Given the description of an element on the screen output the (x, y) to click on. 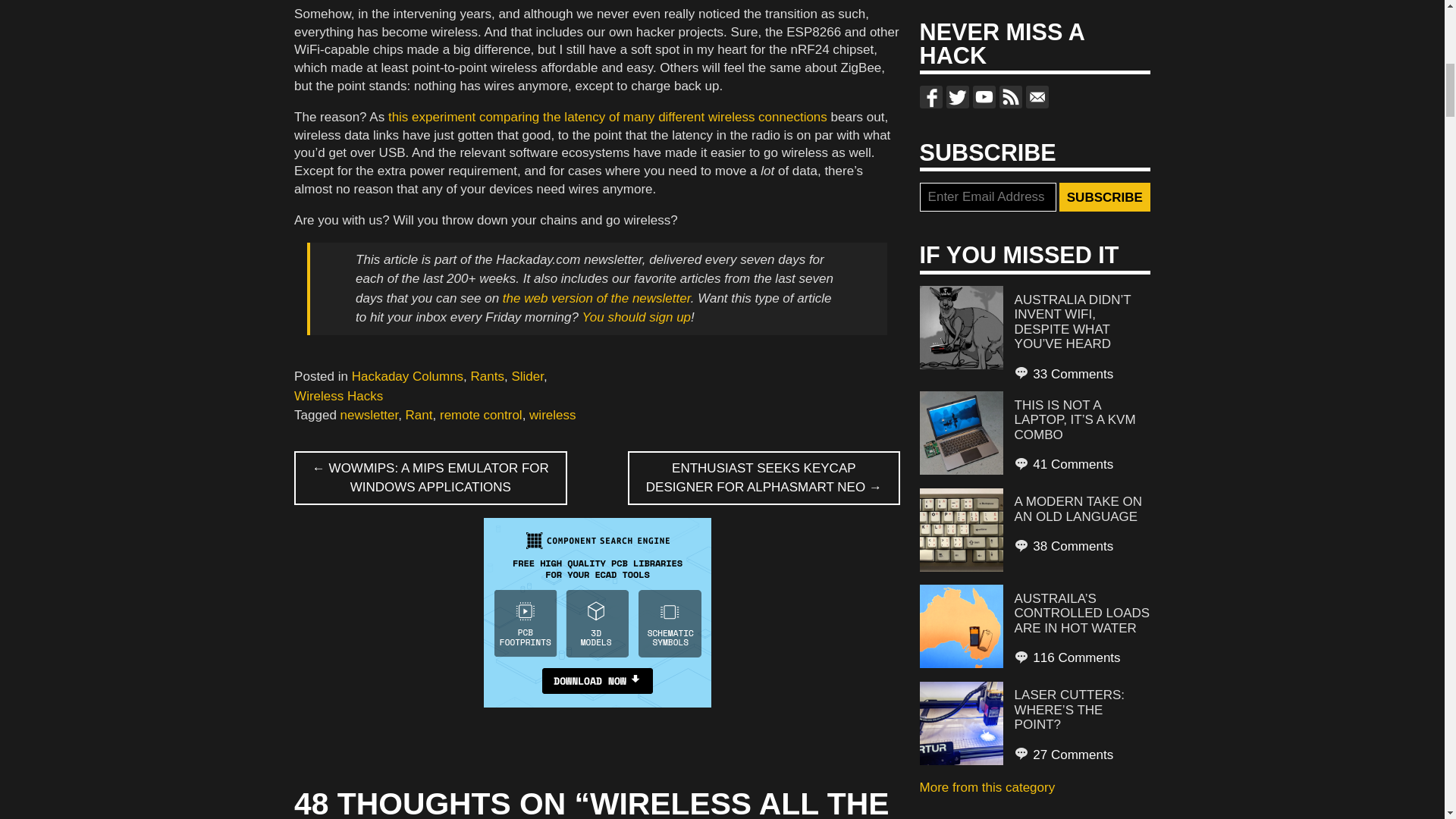
remote control (480, 414)
the web version of the newsletter (596, 298)
Subscribe (1104, 196)
Wireless Hacks (338, 396)
Rants (486, 376)
newsletter (369, 414)
Slider (527, 376)
Rant (419, 414)
You should sign up (635, 317)
